Given the description of an element on the screen output the (x, y) to click on. 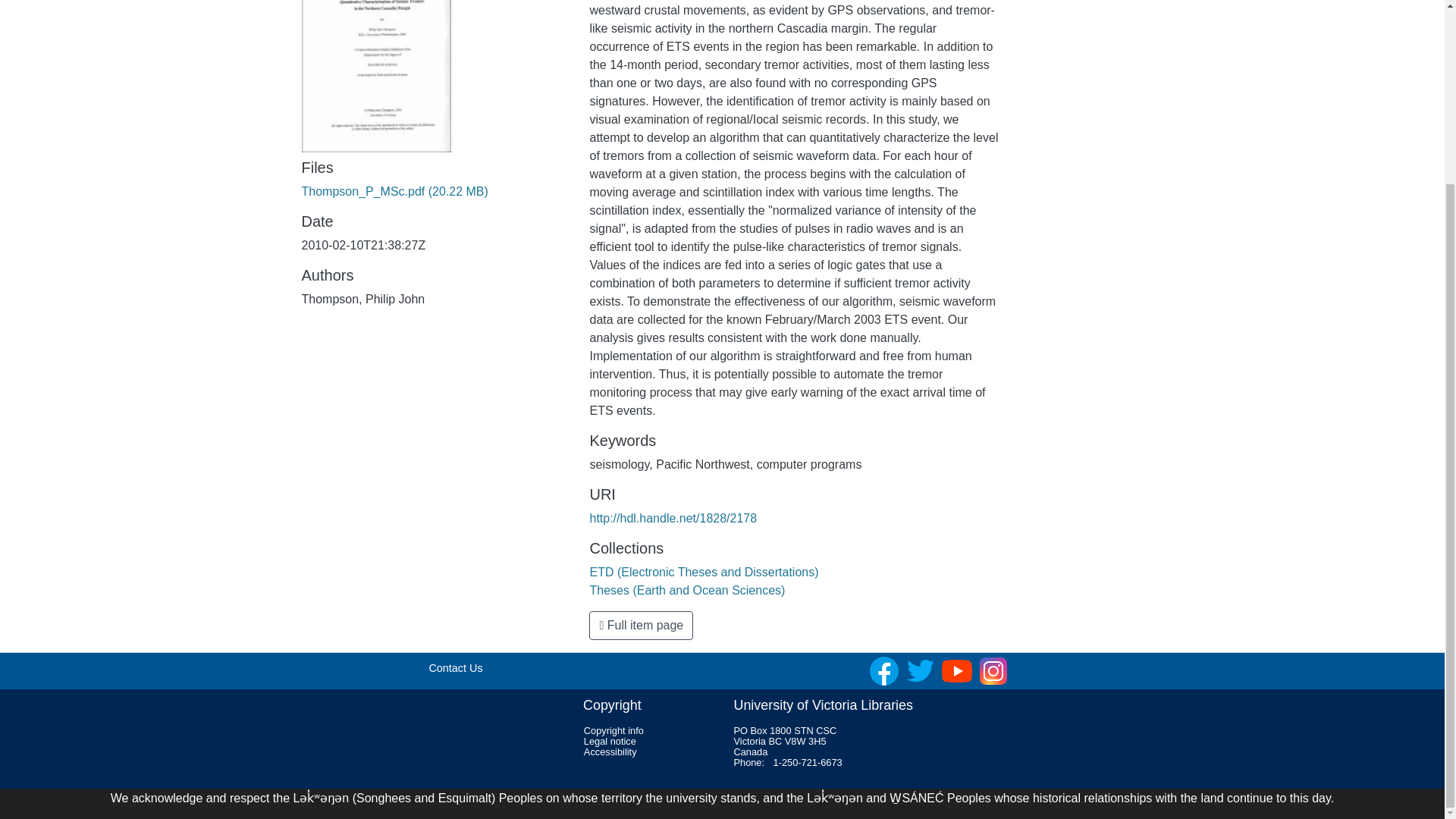
Accessibility (610, 751)
1-250-721-6673 (807, 762)
Contact Us (454, 667)
Legal notice (610, 740)
Full item page (641, 624)
Copyright info (613, 730)
